Given the description of an element on the screen output the (x, y) to click on. 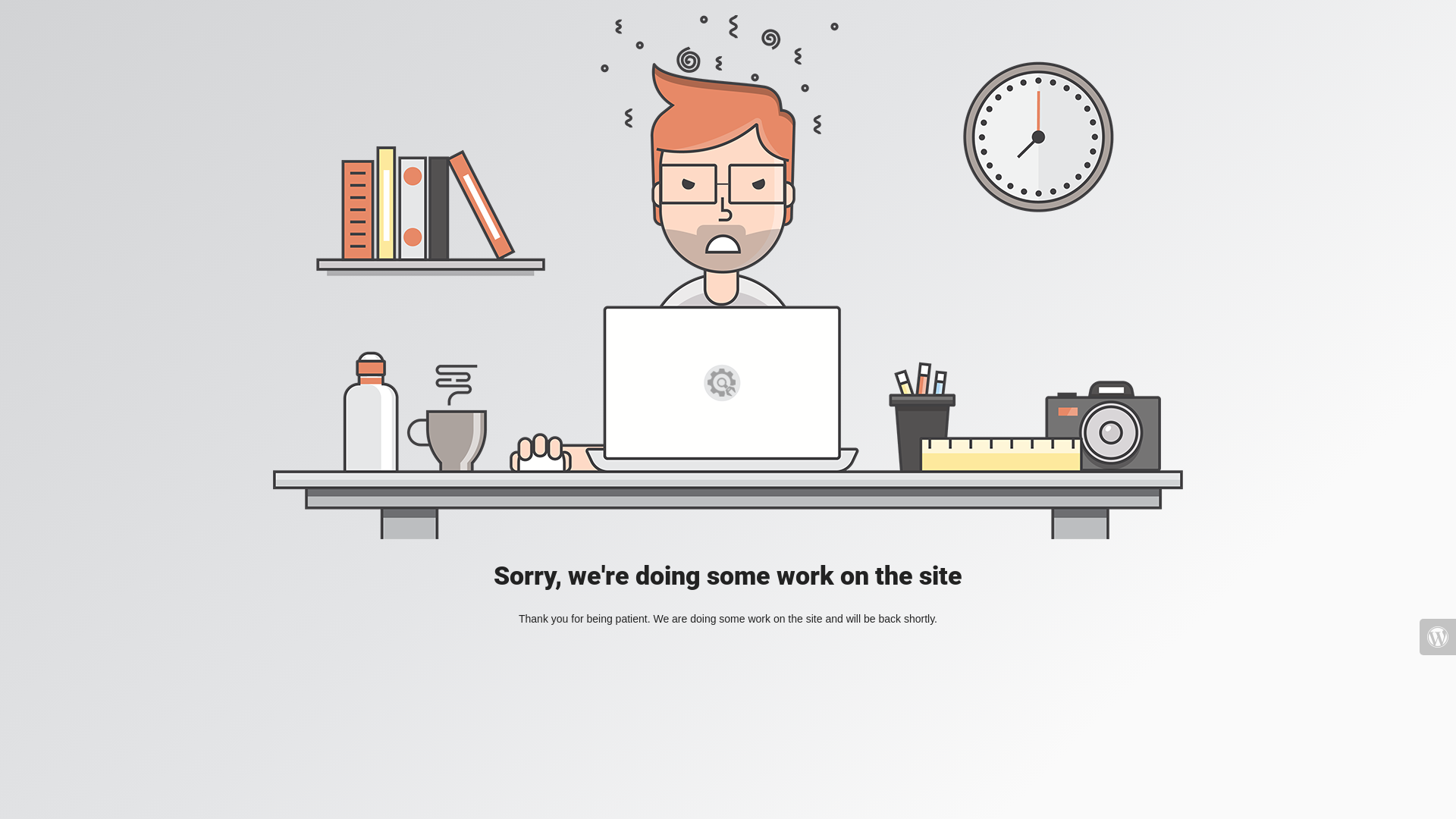
Mad Designer at work Element type: hover (728, 277)
